Given the description of an element on the screen output the (x, y) to click on. 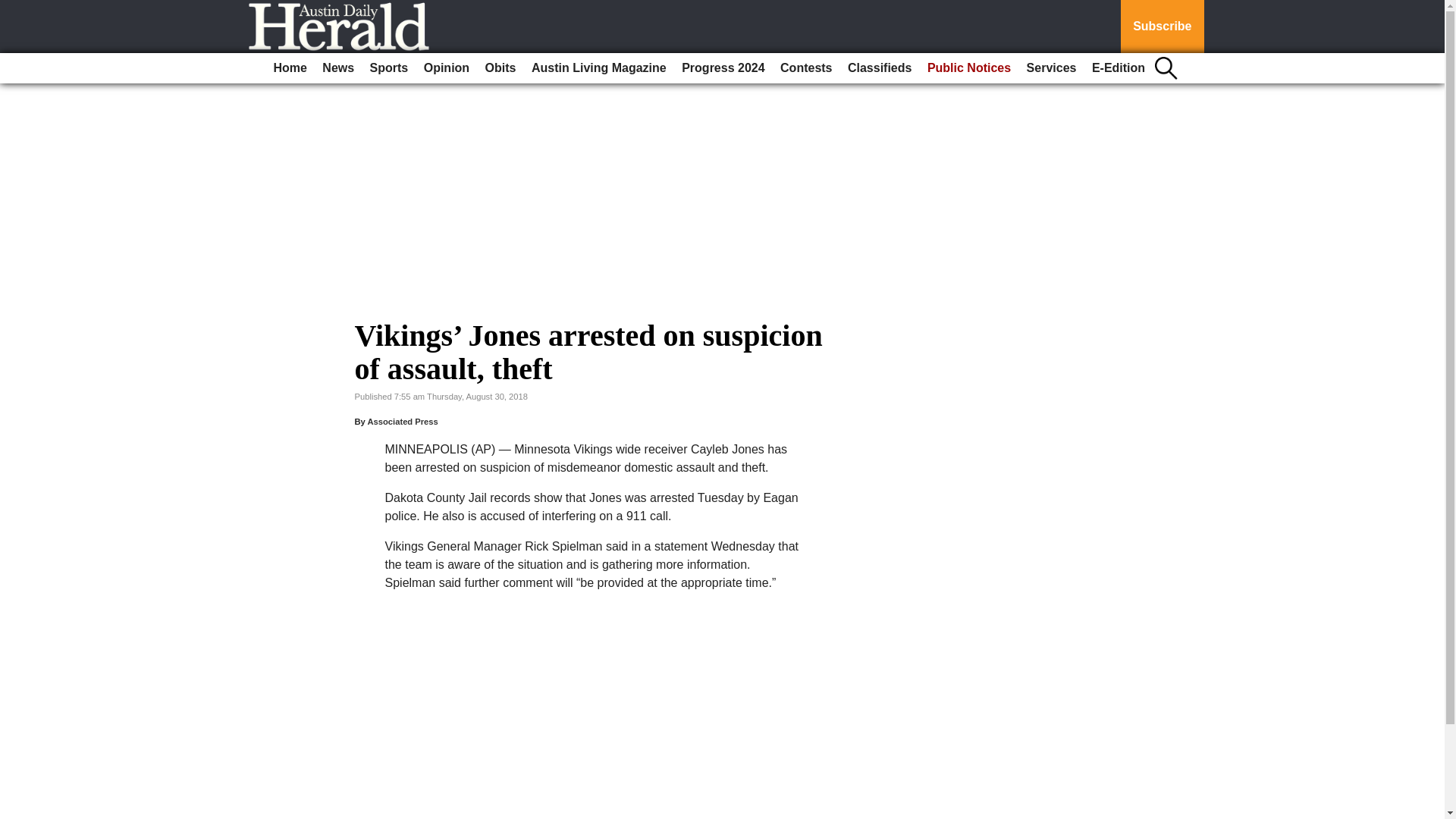
Contests (806, 68)
Classifieds (879, 68)
Opinion (446, 68)
Subscribe (1162, 26)
Public Notices (968, 68)
Sports (389, 68)
Obits (500, 68)
Home (289, 68)
Progress 2024 (722, 68)
Austin Living Magazine (598, 68)
News (337, 68)
Services (1051, 68)
